Given the description of an element on the screen output the (x, y) to click on. 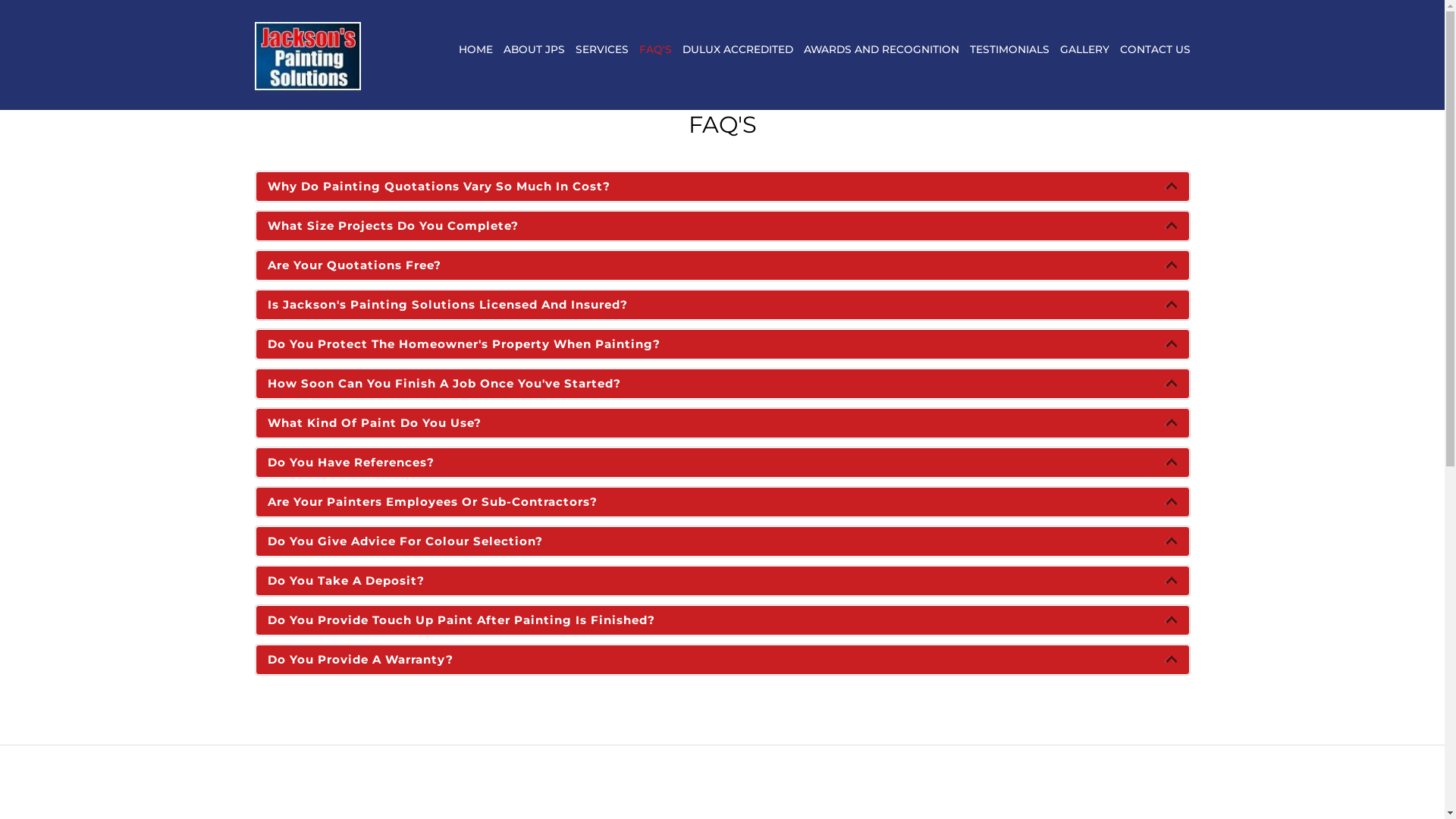
FAQ'S Element type: text (654, 48)
CONTACT US Element type: text (1154, 48)
DULUX ACCREDITED Element type: text (737, 49)
HOME Element type: text (475, 48)
GALLERY Element type: text (1084, 49)
FAQ'S Element type: text (654, 49)
SERVICES Element type: text (600, 49)
SERVICES Element type: text (600, 48)
TESTIMONIALS Element type: text (1008, 49)
TESTIMONIALS Element type: text (1008, 48)
DULUX ACCREDITED Element type: text (737, 48)
HOME Element type: text (475, 49)
ABOUT JPS Element type: text (533, 48)
ABOUT JPS Element type: text (533, 49)
AWARDS AND RECOGNITION Element type: text (881, 49)
AWARDS AND RECOGNITION Element type: text (881, 48)
GALLERY Element type: text (1084, 48)
CONTACT US Element type: text (1154, 49)
